Given the description of an element on the screen output the (x, y) to click on. 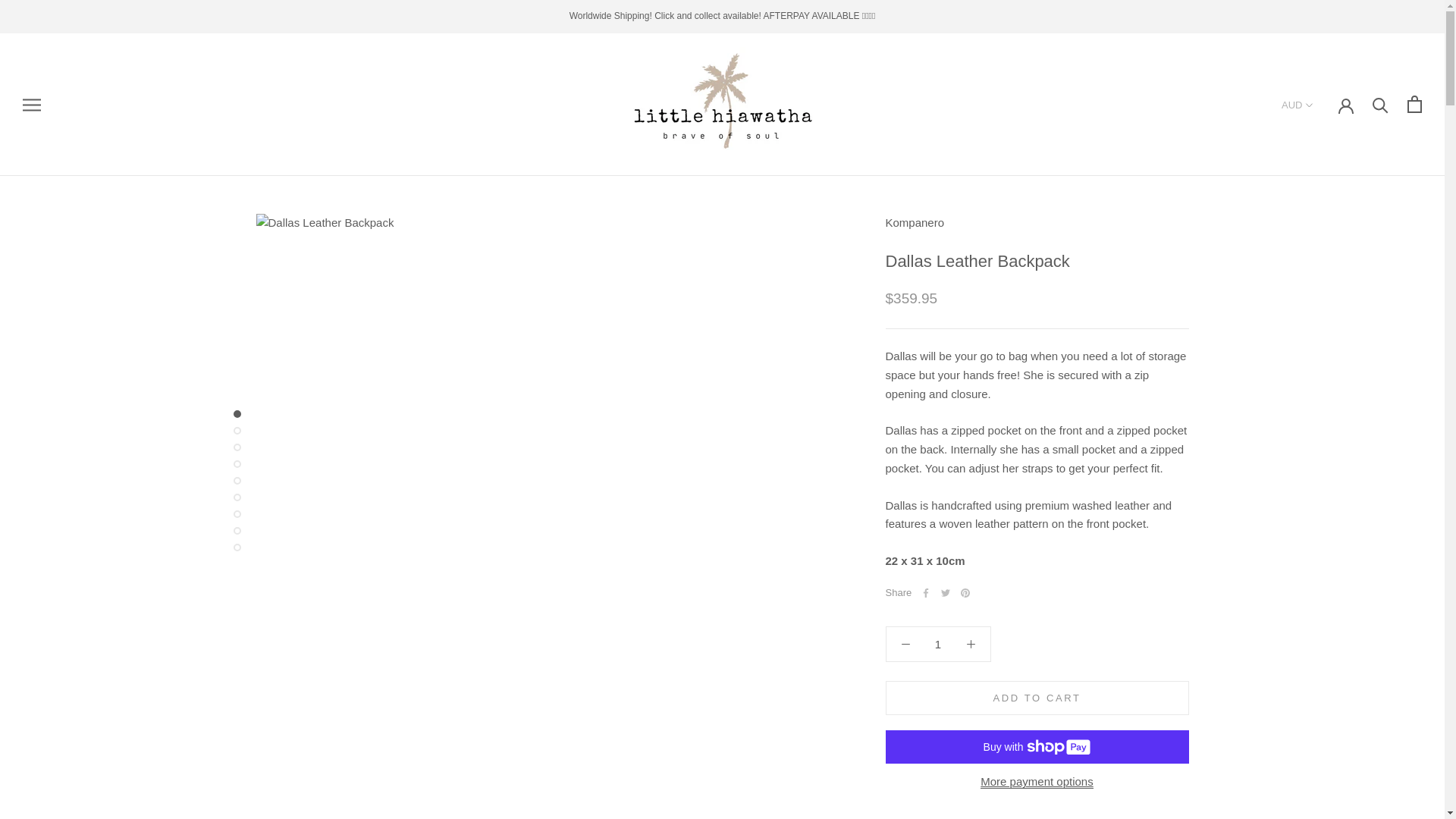
Currency selector (1297, 104)
1 (938, 644)
